Given the description of an element on the screen output the (x, y) to click on. 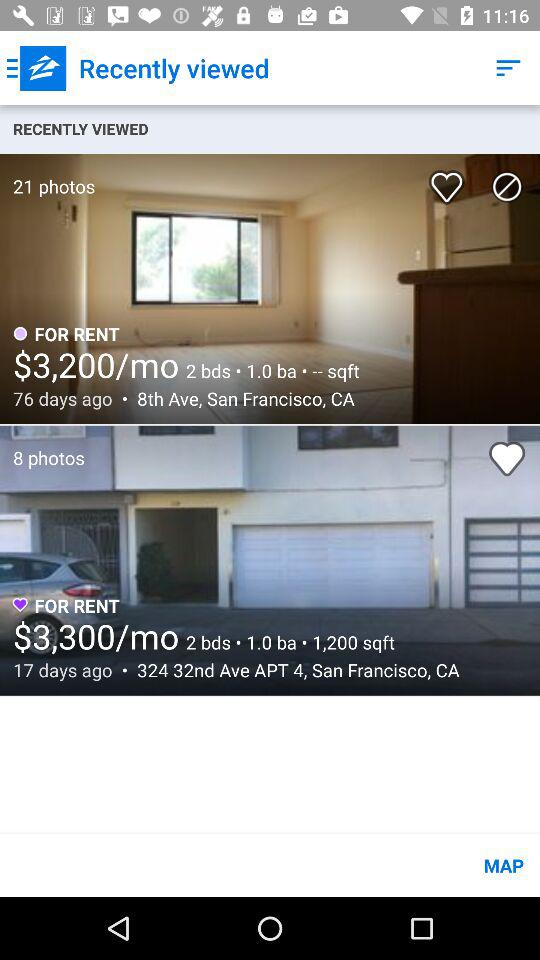
open the icon next to the recently viewed (508, 67)
